Given the description of an element on the screen output the (x, y) to click on. 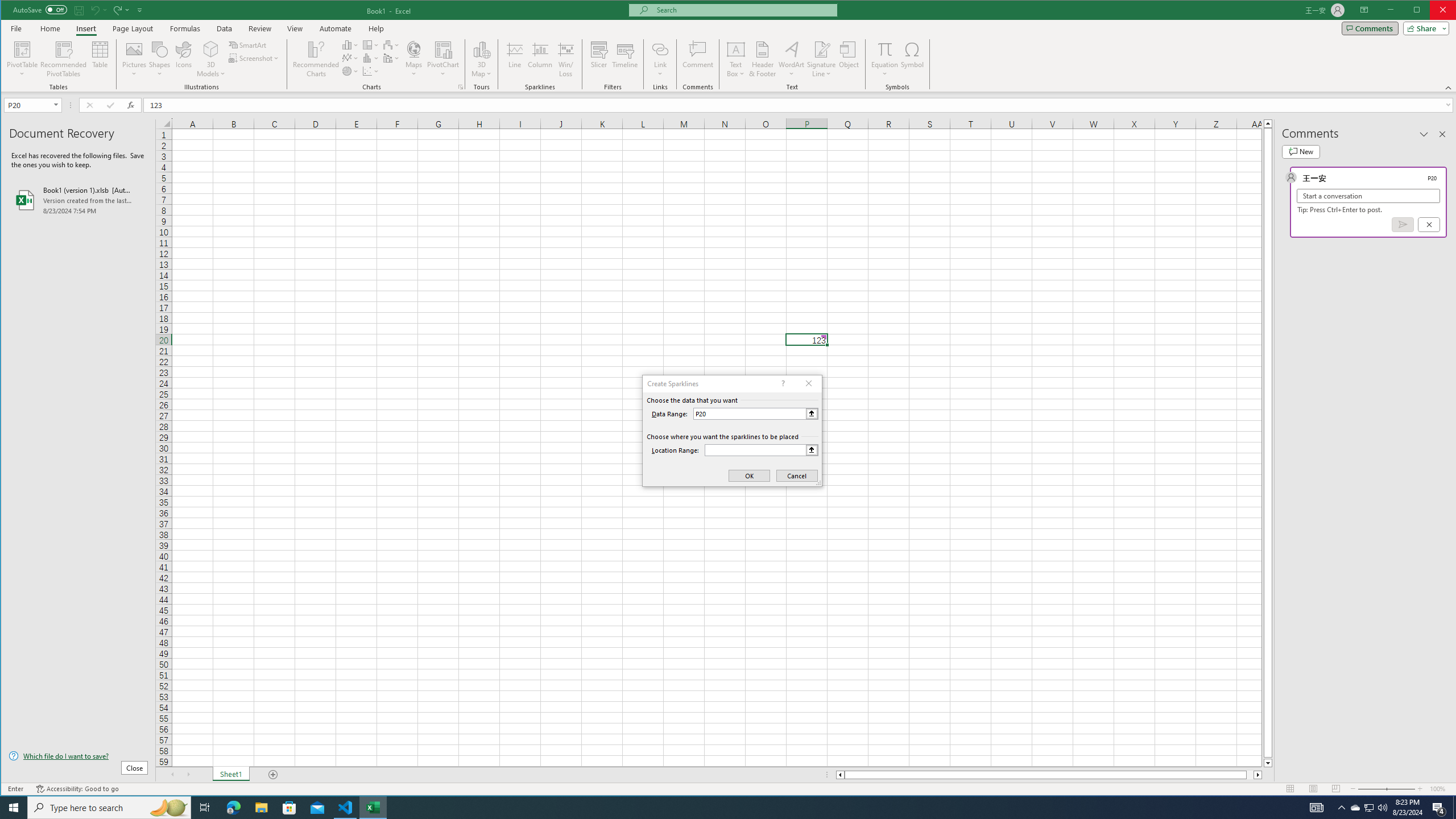
Collapse the Ribbon (1448, 87)
Insert Line or Area Chart (350, 57)
PivotChart (443, 59)
Scroll Right (188, 774)
3D Map (481, 59)
Line down (1267, 763)
Column right (1258, 774)
Recommended Charts (460, 86)
Home (50, 28)
Cancel (1428, 224)
New comment (1300, 151)
Slicer... (598, 59)
